Given the description of an element on the screen output the (x, y) to click on. 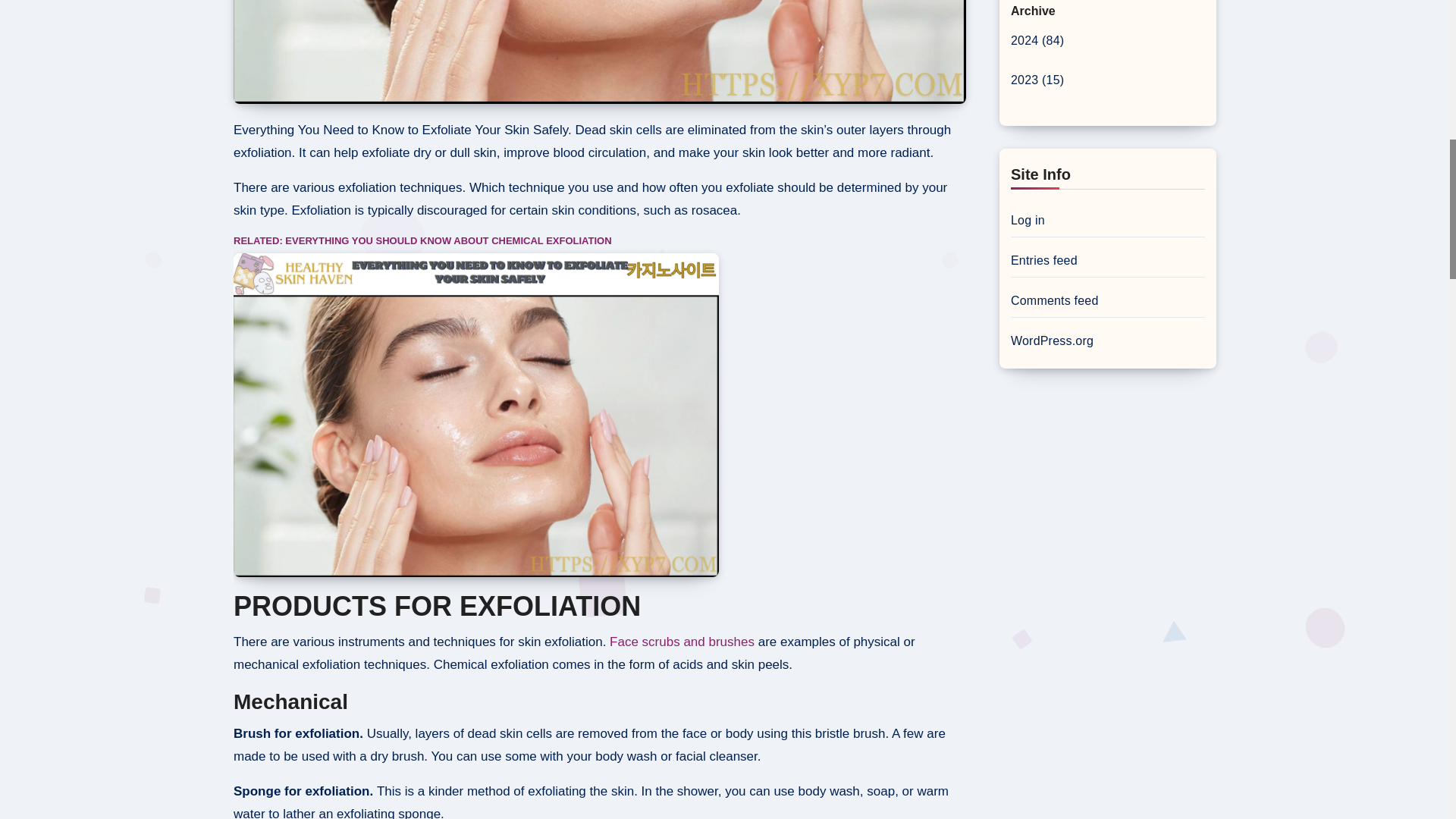
Face scrubs and brushes (684, 641)
